Given the description of an element on the screen output the (x, y) to click on. 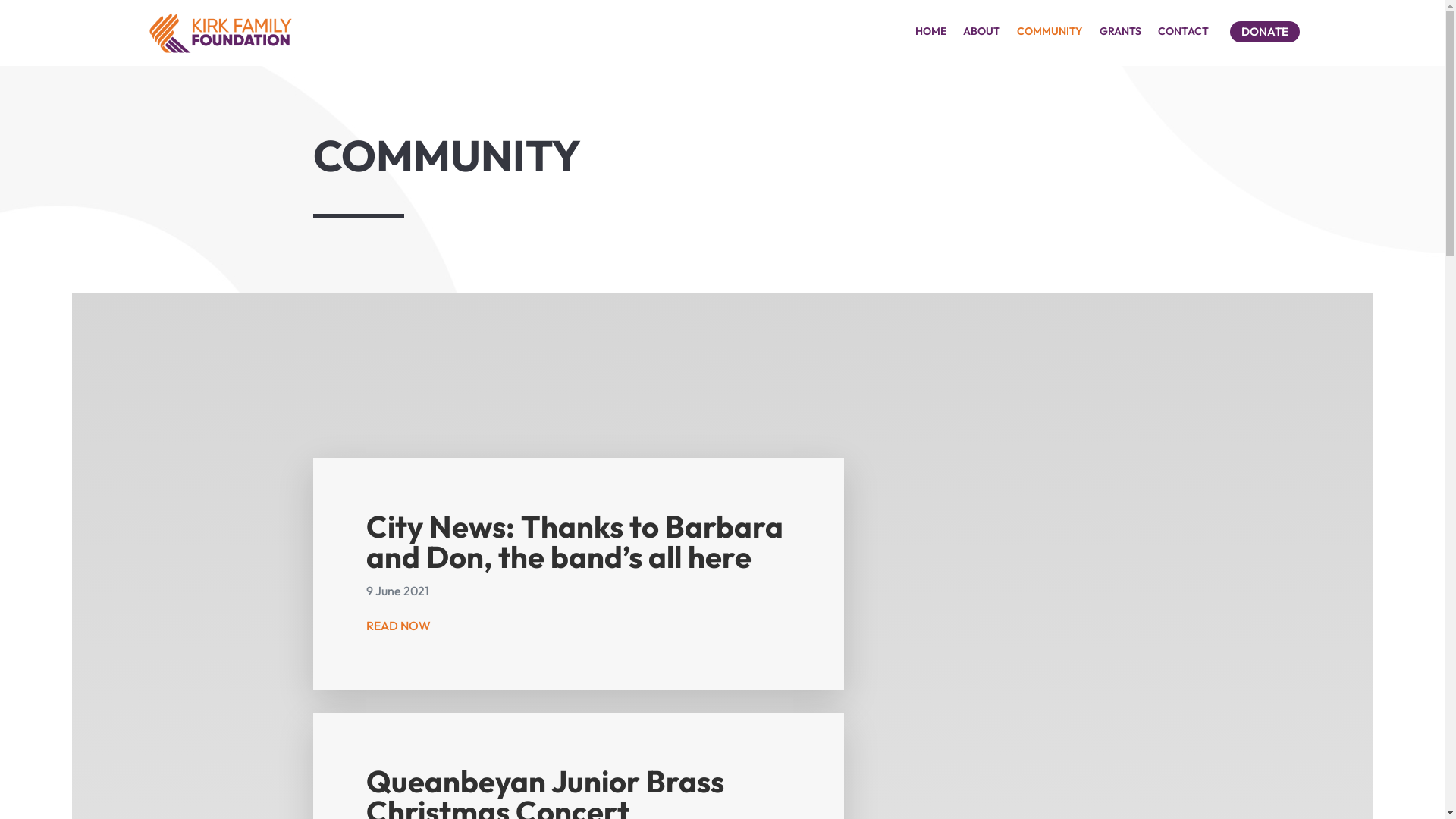
HOME Element type: text (930, 33)
CONTACT Element type: text (1182, 33)
GRANTS Element type: text (1120, 33)
READ NOW Element type: text (398, 625)
DONATE Element type: text (1264, 31)
Kirk Family Foundation Logo Full Color Rgb 1200px W 144ppi Element type: hover (219, 32)
COMMUNITY Element type: text (1049, 33)
ABOUT Element type: text (981, 33)
